Given the description of an element on the screen output the (x, y) to click on. 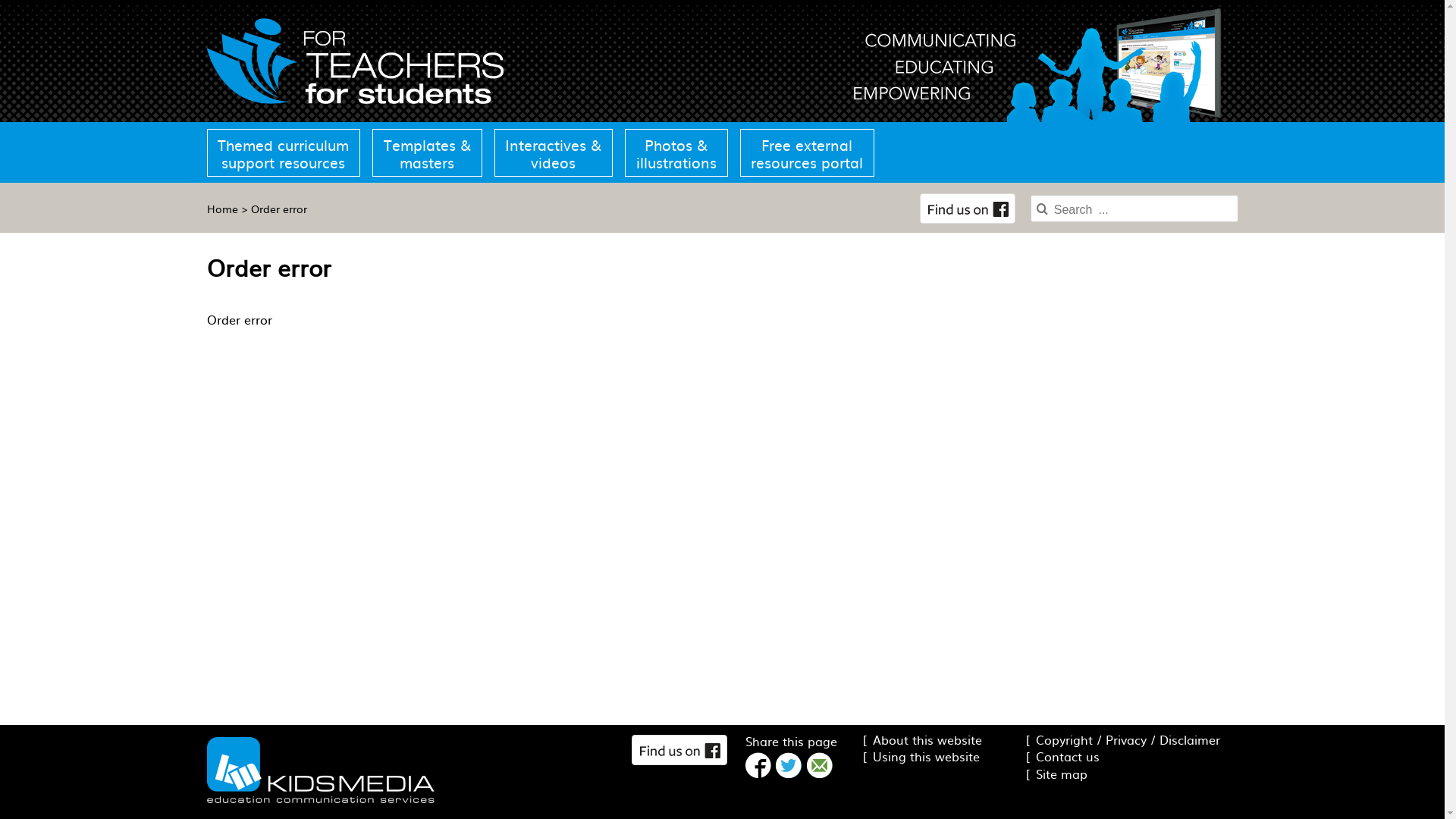
Free external
resources portal Element type: text (804, 153)
Site map Element type: text (1055, 773)
Templates &
masters Element type: text (427, 153)
Copyright / Privacy / Disclaimer Element type: text (1122, 739)
Facebook opens in a new window Element type: hover (967, 208)
Photos &
illustrations Element type: text (676, 153)
Home Element type: text (221, 208)
Contact us Element type: text (1061, 755)
Skip to content Element type: text (0, 0)
Using this website Element type: text (920, 755)
Interactives &
videos Element type: text (553, 153)
Search Element type: text (1247, 199)
Facebook opens in a new window Element type: hover (678, 749)
Themed curriculum
support resources Element type: text (286, 153)
About this website Element type: text (922, 739)
